Given the description of an element on the screen output the (x, y) to click on. 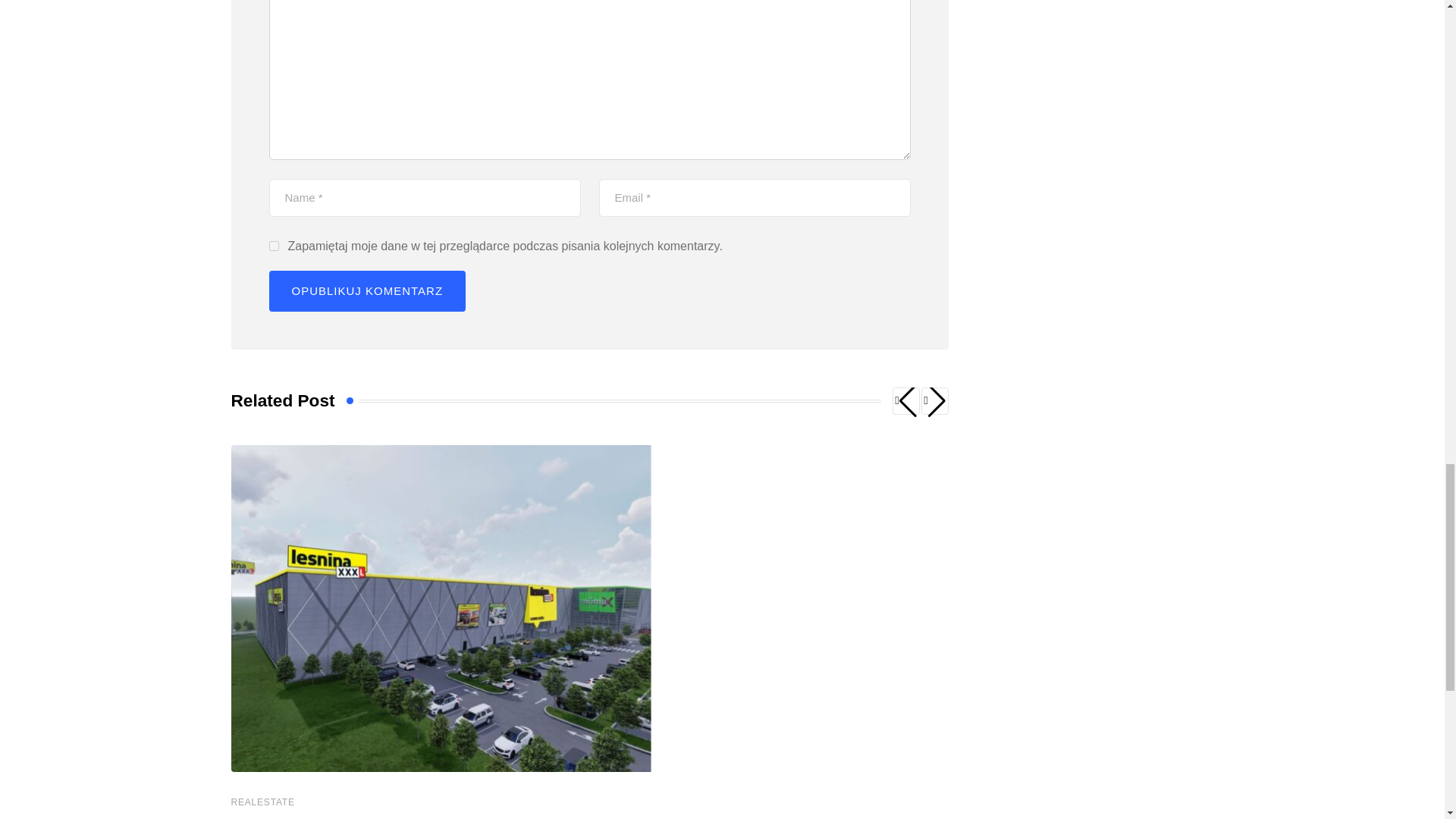
yes (272, 245)
Opublikuj komentarz (366, 291)
REALESTATE (262, 801)
Opublikuj komentarz (366, 291)
